Given the description of an element on the screen output the (x, y) to click on. 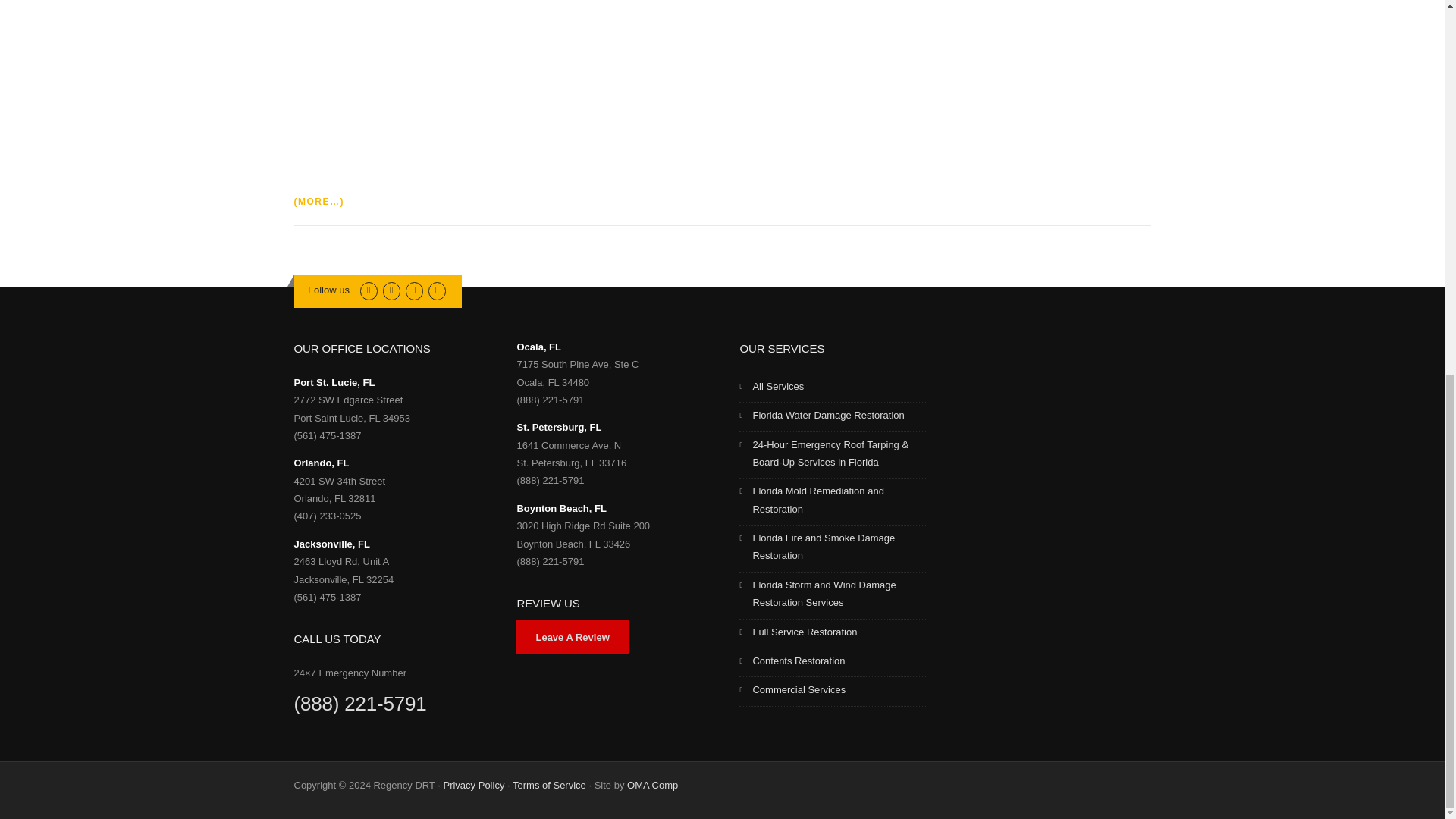
Twitter (368, 289)
Linkedin (414, 289)
Facebook (391, 289)
Youtube (436, 289)
